Given the description of an element on the screen output the (x, y) to click on. 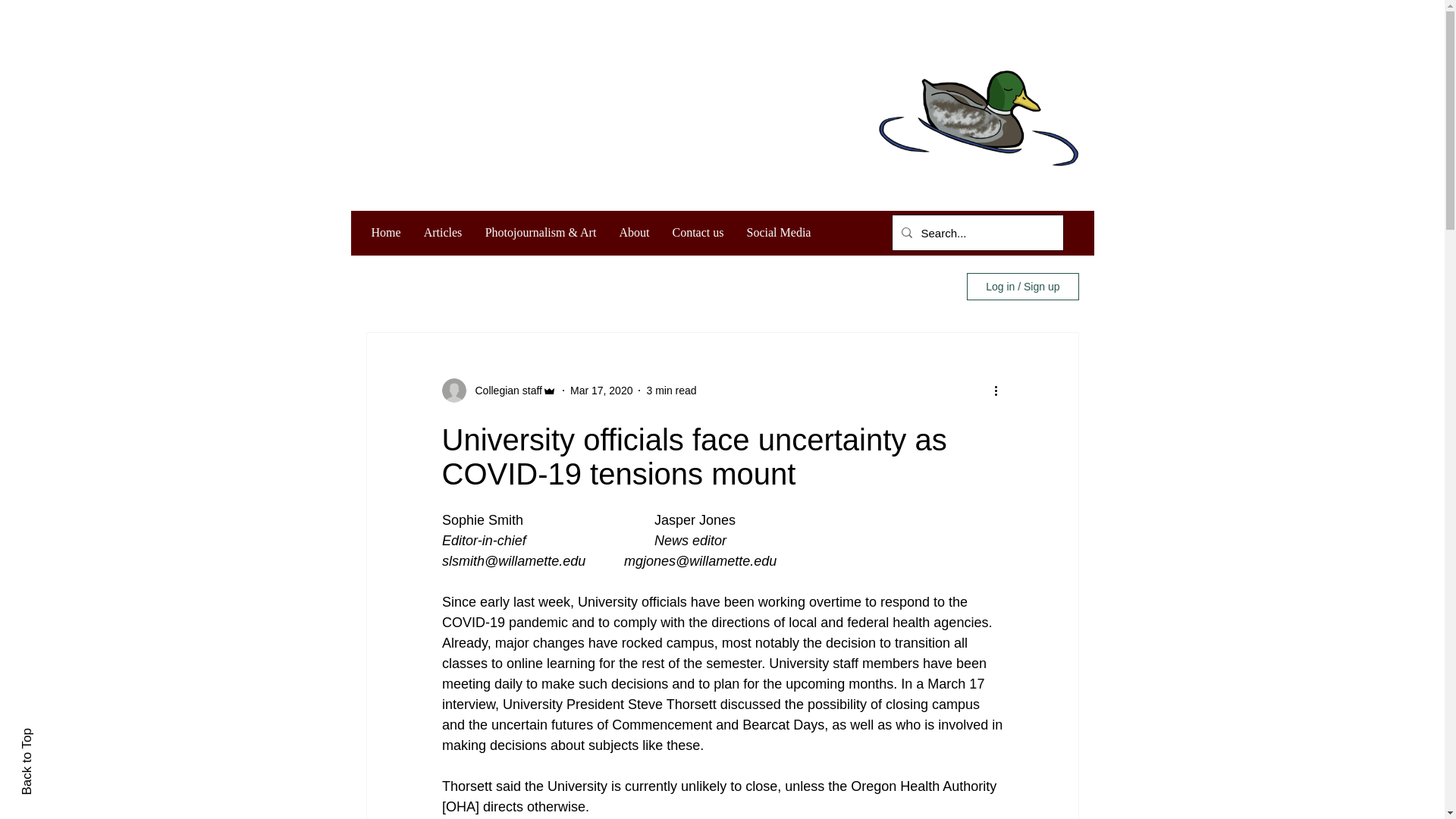
Mar 17, 2020 (601, 389)
About (634, 232)
Home (385, 232)
Articles (443, 232)
Collegian staff (503, 390)
Social Media (778, 232)
3 min read (670, 389)
Contact us (698, 232)
